Given the description of an element on the screen output the (x, y) to click on. 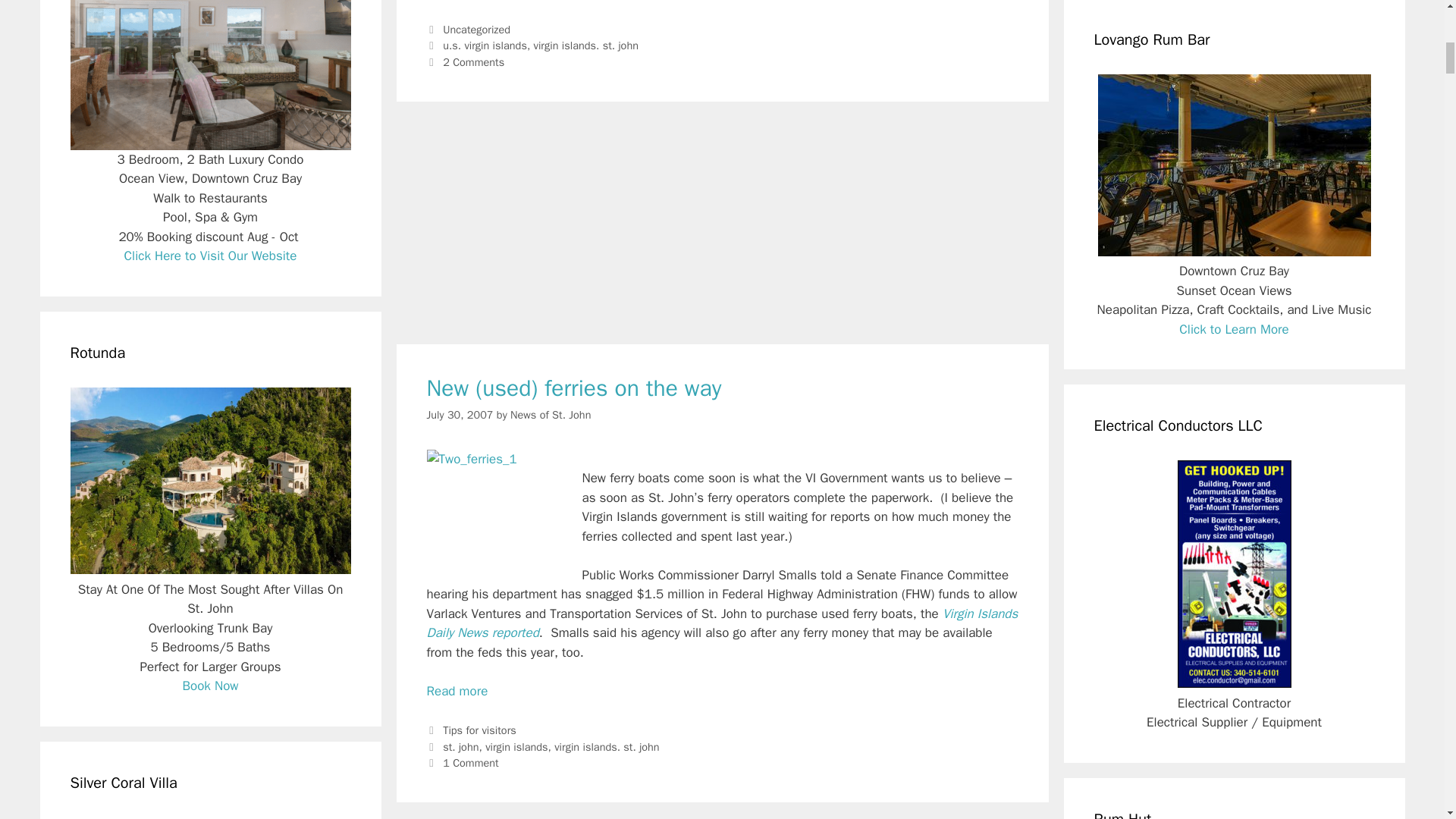
2 Comments (472, 61)
News of St. John (551, 414)
Uncategorized (476, 29)
virgin islands. st. john (586, 45)
July 30, 2007 (459, 414)
View all posts by News of St. John (551, 414)
u.s. virgin islands (484, 45)
12:06 pm (459, 414)
